Given the description of an element on the screen output the (x, y) to click on. 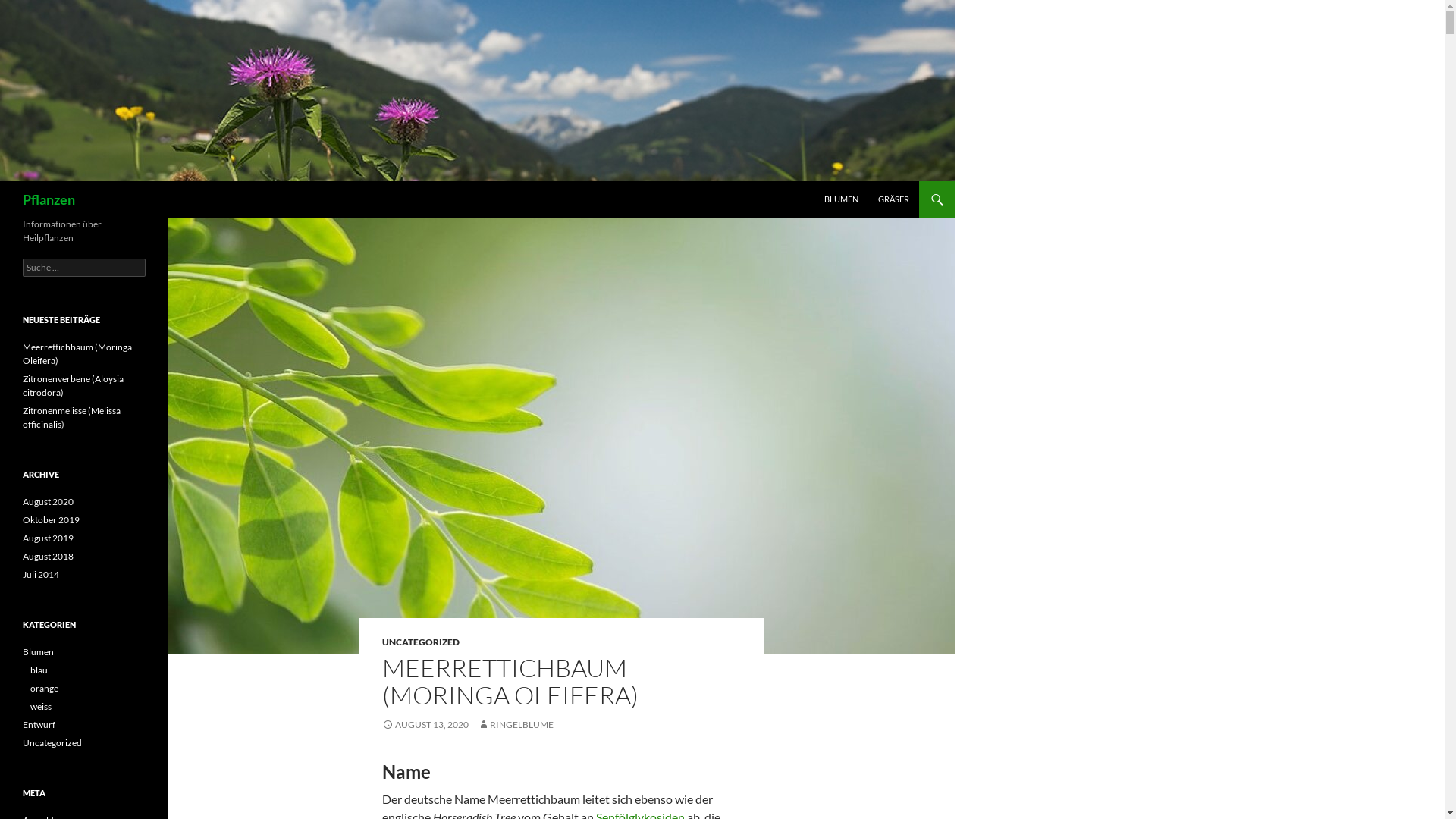
UNCATEGORIZED Element type: text (420, 641)
Uncategorized Element type: text (51, 742)
Blumen Element type: text (37, 651)
August 2020 Element type: text (47, 501)
Suchen Element type: text (3, 181)
Entwurf Element type: text (38, 724)
Meerrettichbaum (Moringa Oleifera) Element type: text (76, 353)
Oktober 2019 Element type: text (50, 519)
Suche Element type: text (26, 9)
BLUMEN Element type: text (841, 199)
Zitronenverbene (Aloysia citrodora) Element type: text (72, 385)
Zitronenmelisse (Melissa officinalis) Element type: text (71, 416)
MEERRETTICHBAUM (MORINGA OLEIFERA) Element type: text (510, 681)
AUGUST 13, 2020 Element type: text (425, 724)
August 2019 Element type: text (47, 537)
August 2018 Element type: text (47, 555)
RINGELBLUME Element type: text (515, 724)
weiss Element type: text (40, 706)
orange Element type: text (44, 687)
SPRINGE ZUM INHALT Element type: text (824, 181)
blau Element type: text (38, 669)
Pflanzen Element type: text (48, 199)
Juli 2014 Element type: text (40, 574)
